Given the description of an element on the screen output the (x, y) to click on. 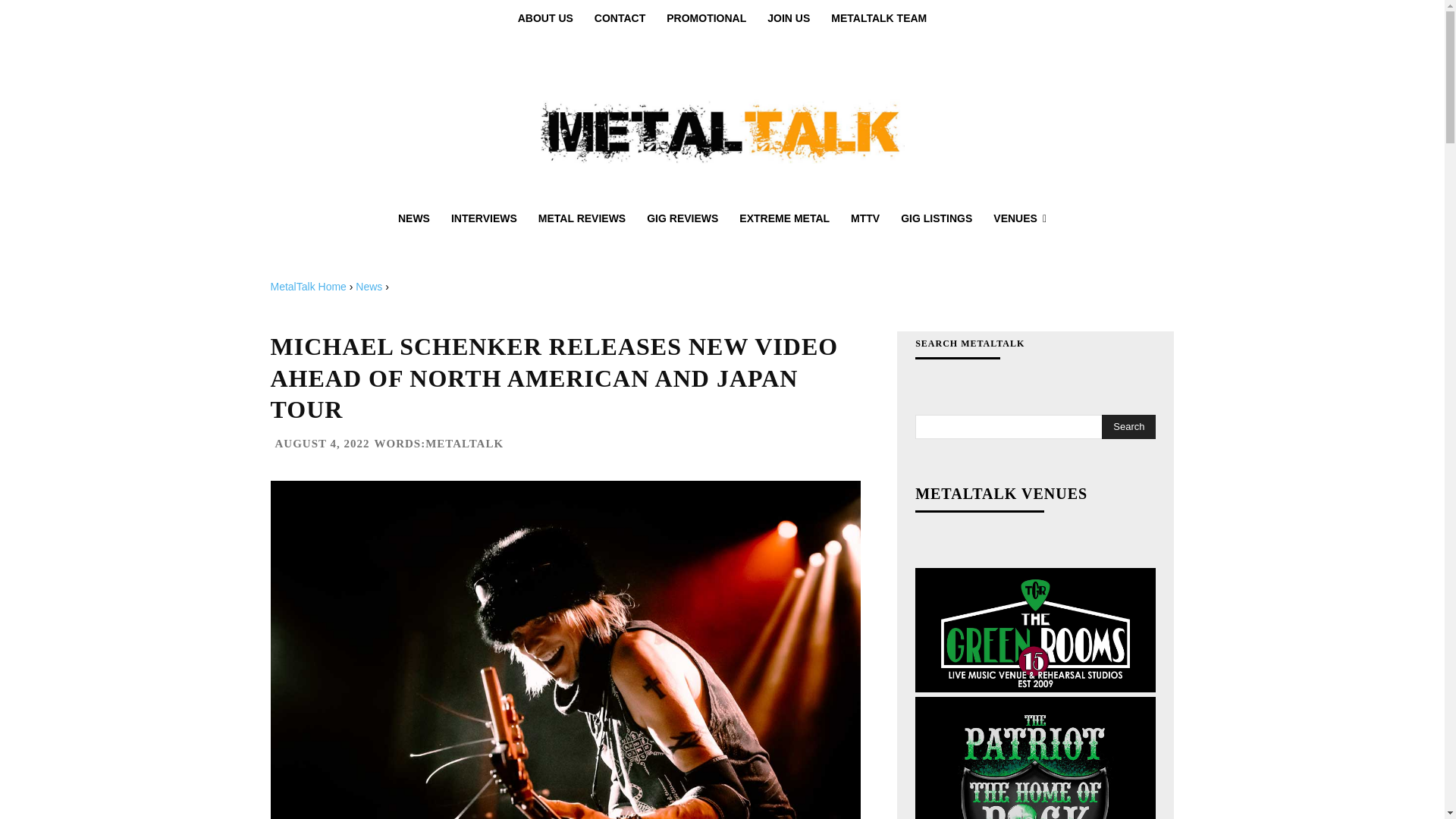
GIG LISTINGS (935, 217)
GIG REVIEWS (682, 217)
ABOUT US (544, 18)
MetalTalk Home (307, 286)
PROMOTIONAL (706, 18)
MTTV (864, 217)
CONTACT (619, 18)
NEWS (414, 217)
VENUES (1019, 217)
METALTALK TEAM (879, 18)
